Given the description of an element on the screen output the (x, y) to click on. 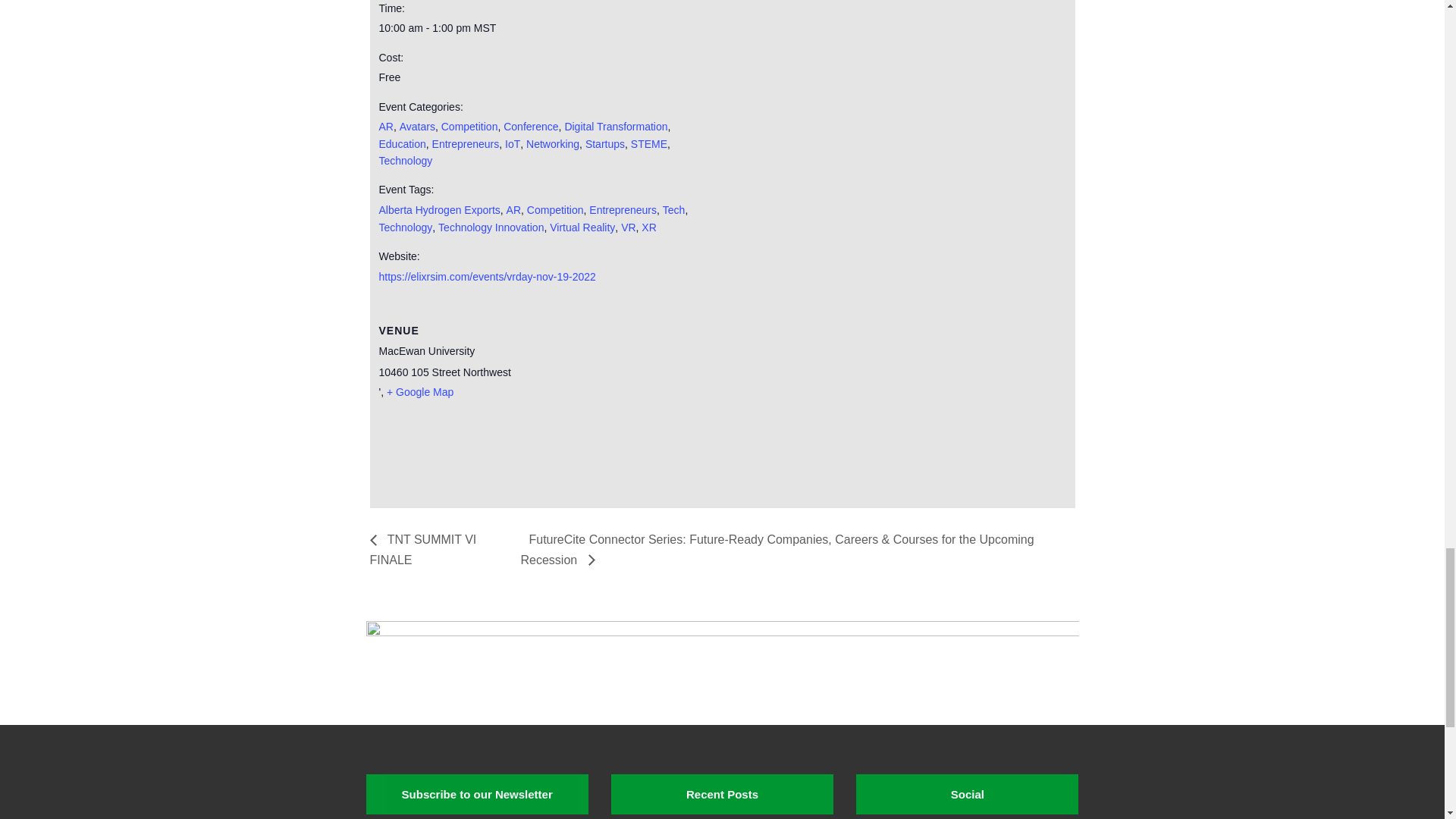
2022-11-19 (543, 27)
Click to view a Google Map (419, 391)
